Given the description of an element on the screen output the (x, y) to click on. 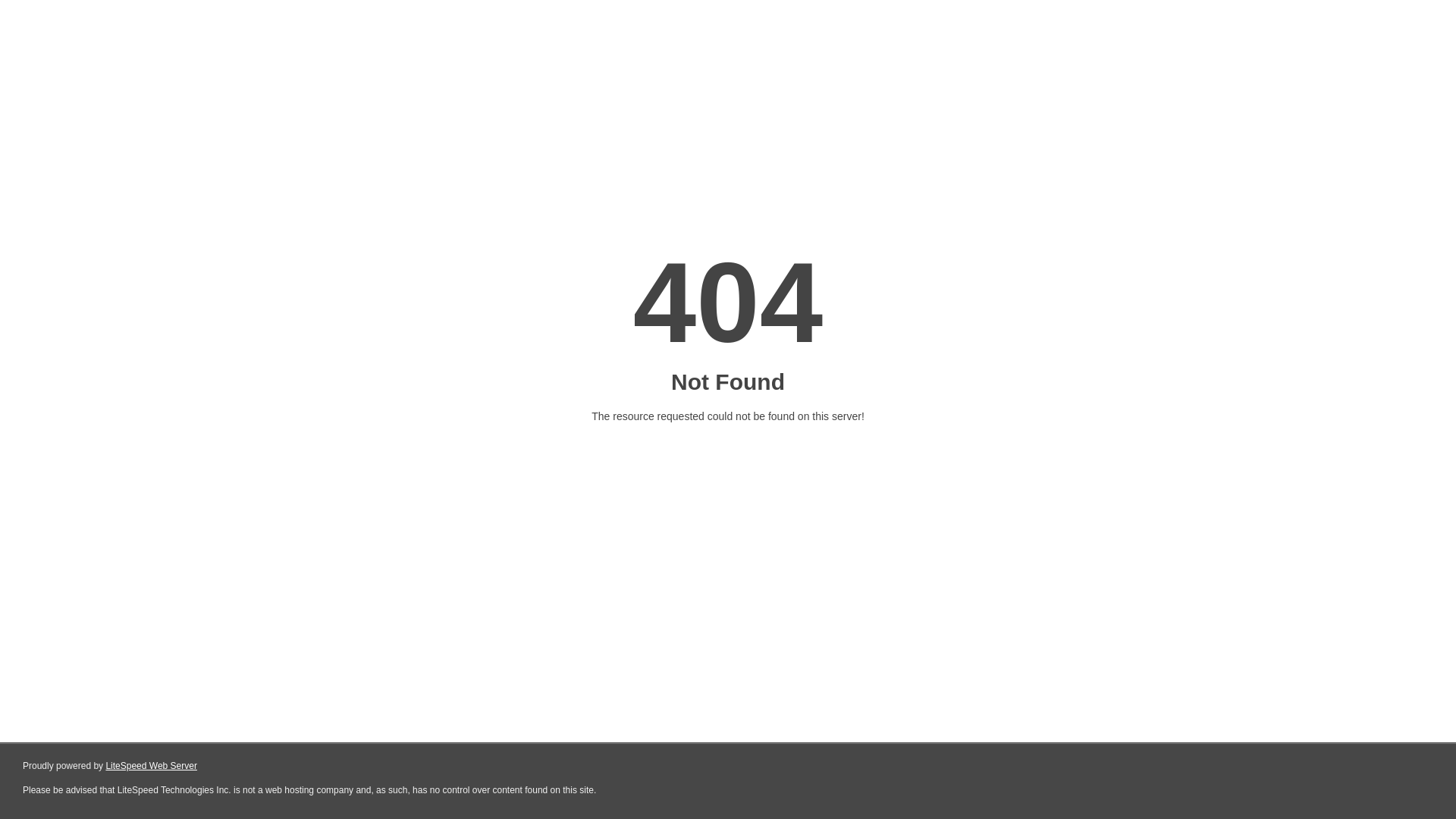
LiteSpeed Web Server Element type: text (151, 765)
